Given the description of an element on the screen output the (x, y) to click on. 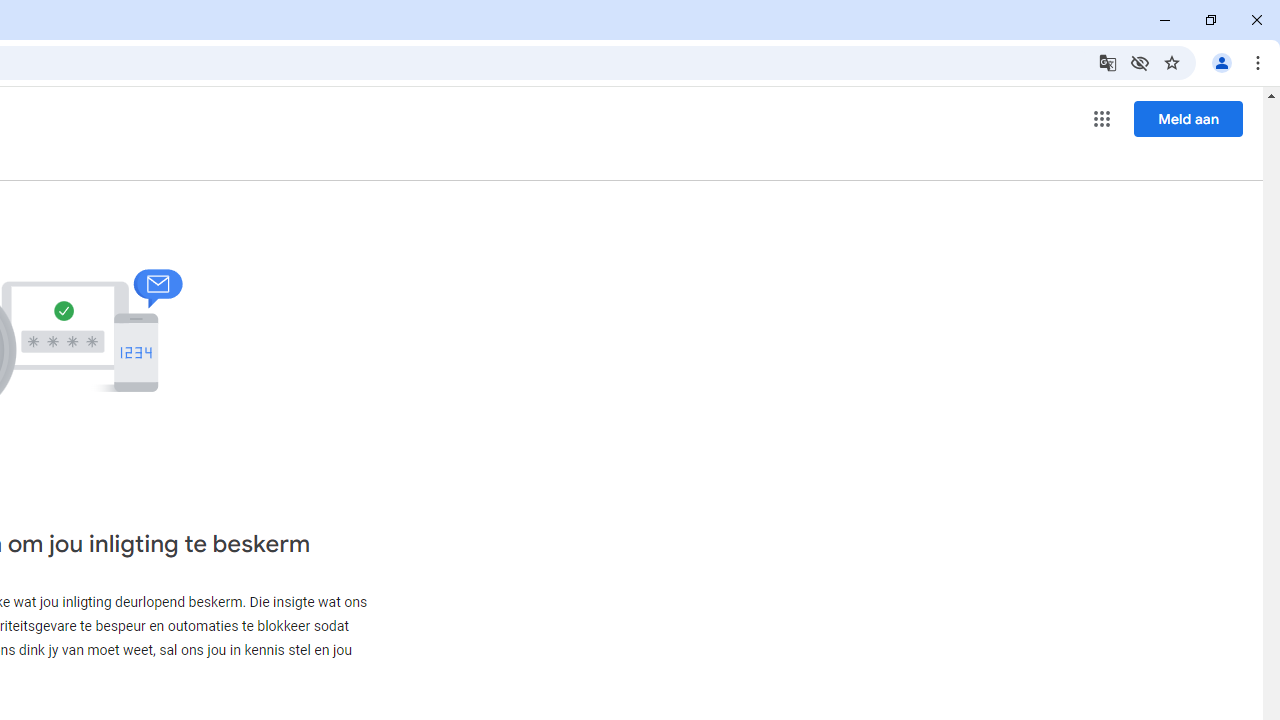
Translate this page (1107, 62)
Meld aan (1188, 118)
Google-programme (1101, 118)
